Given the description of an element on the screen output the (x, y) to click on. 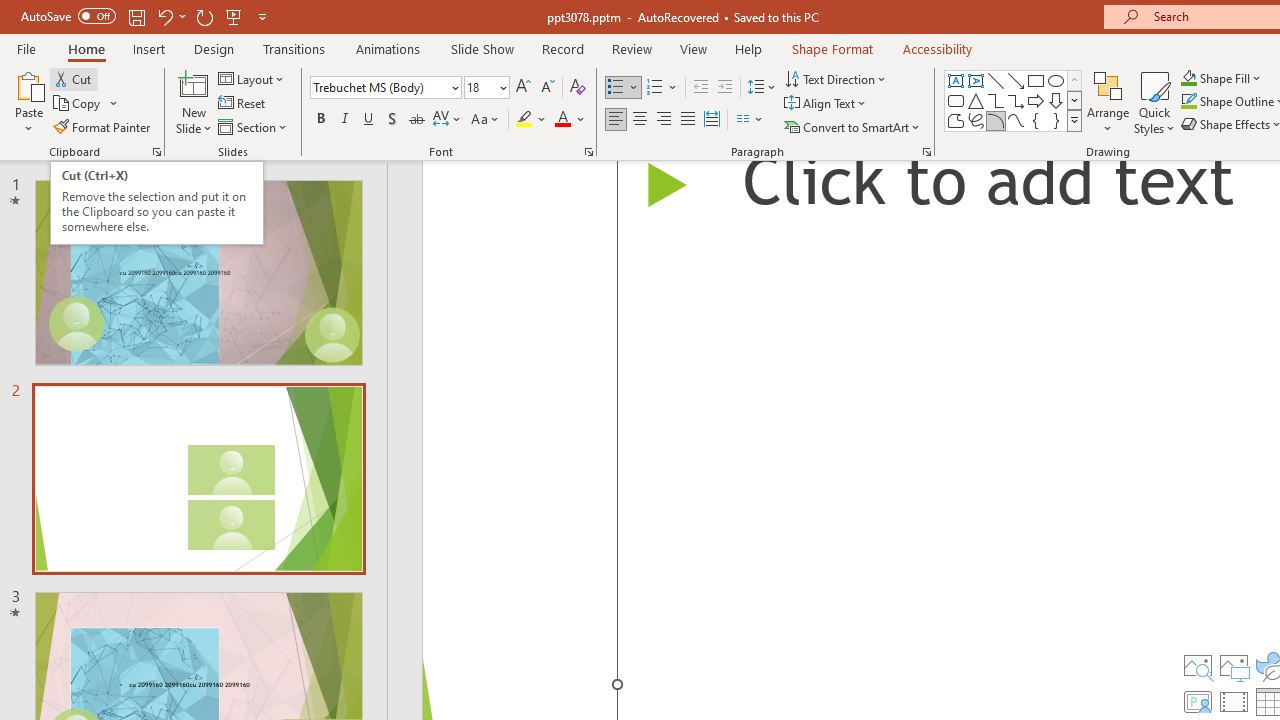
Pictures (1234, 665)
Shape Fill Dark Green, Accent 2 (1188, 78)
